Given the description of an element on the screen output the (x, y) to click on. 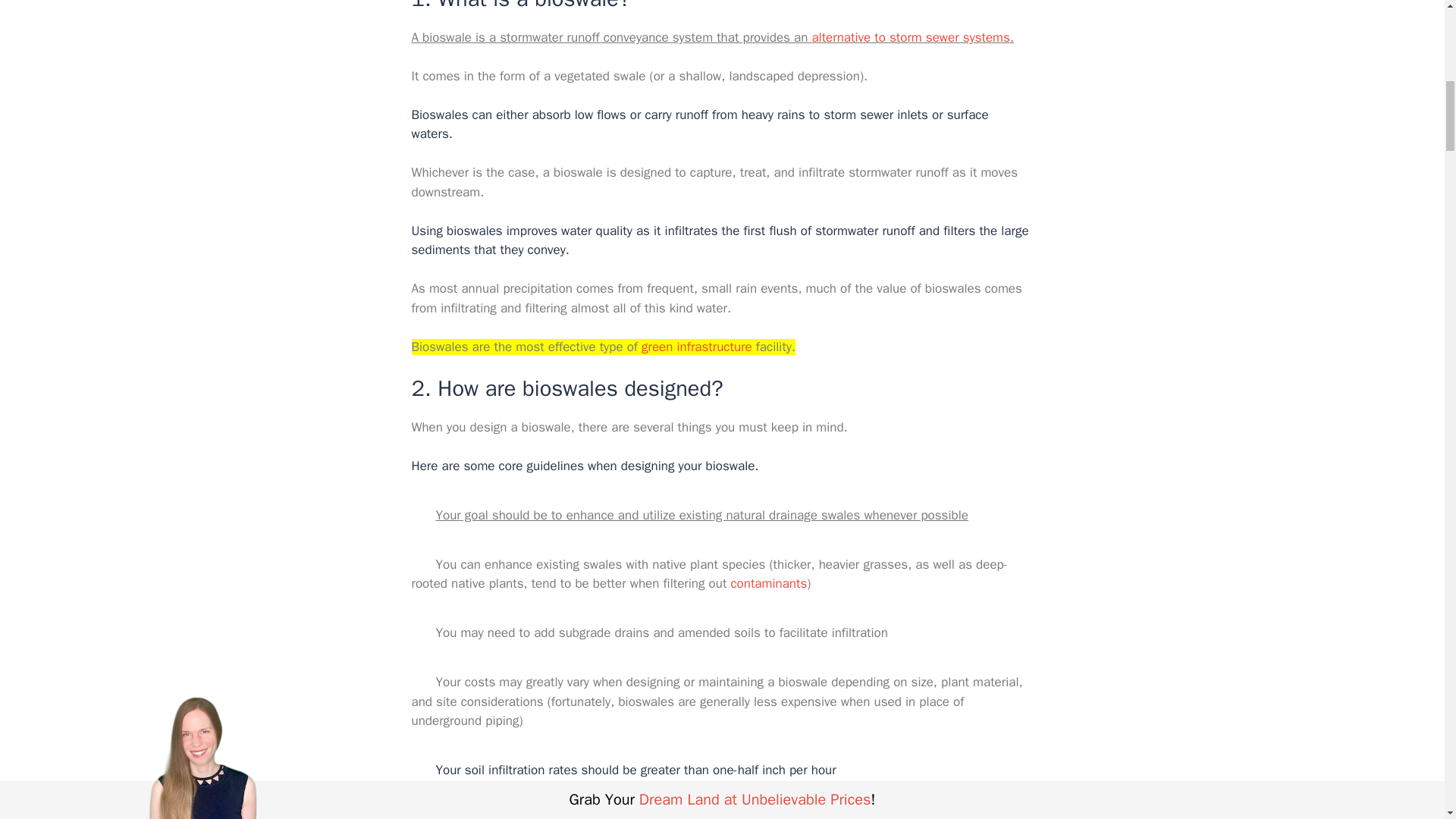
alternative to storm sewer systems (909, 37)
contaminants (768, 583)
green infrastructure (697, 346)
